Given the description of an element on the screen output the (x, y) to click on. 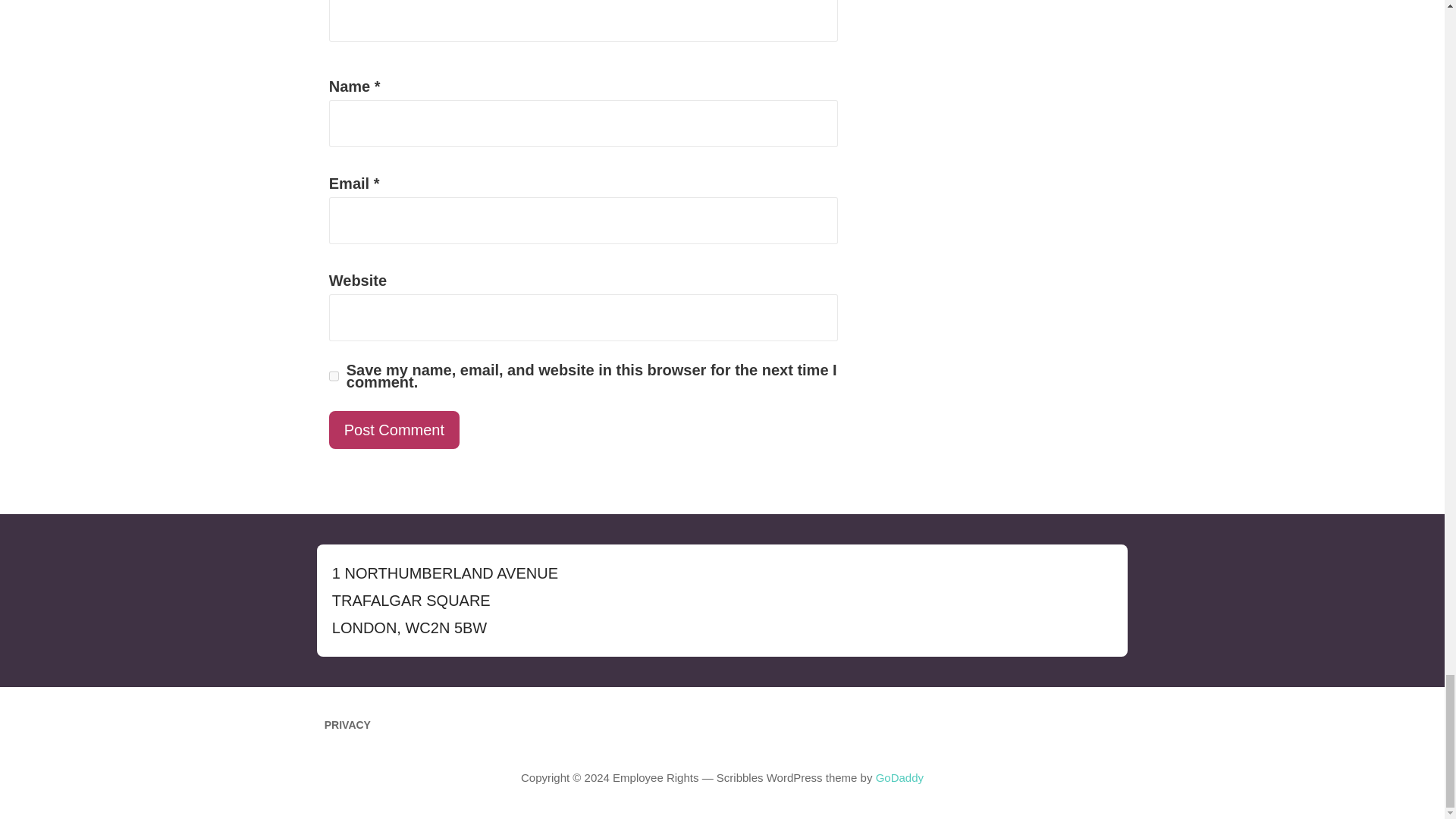
Post Comment (394, 429)
Post Comment (394, 429)
